Given the description of an element on the screen output the (x, y) to click on. 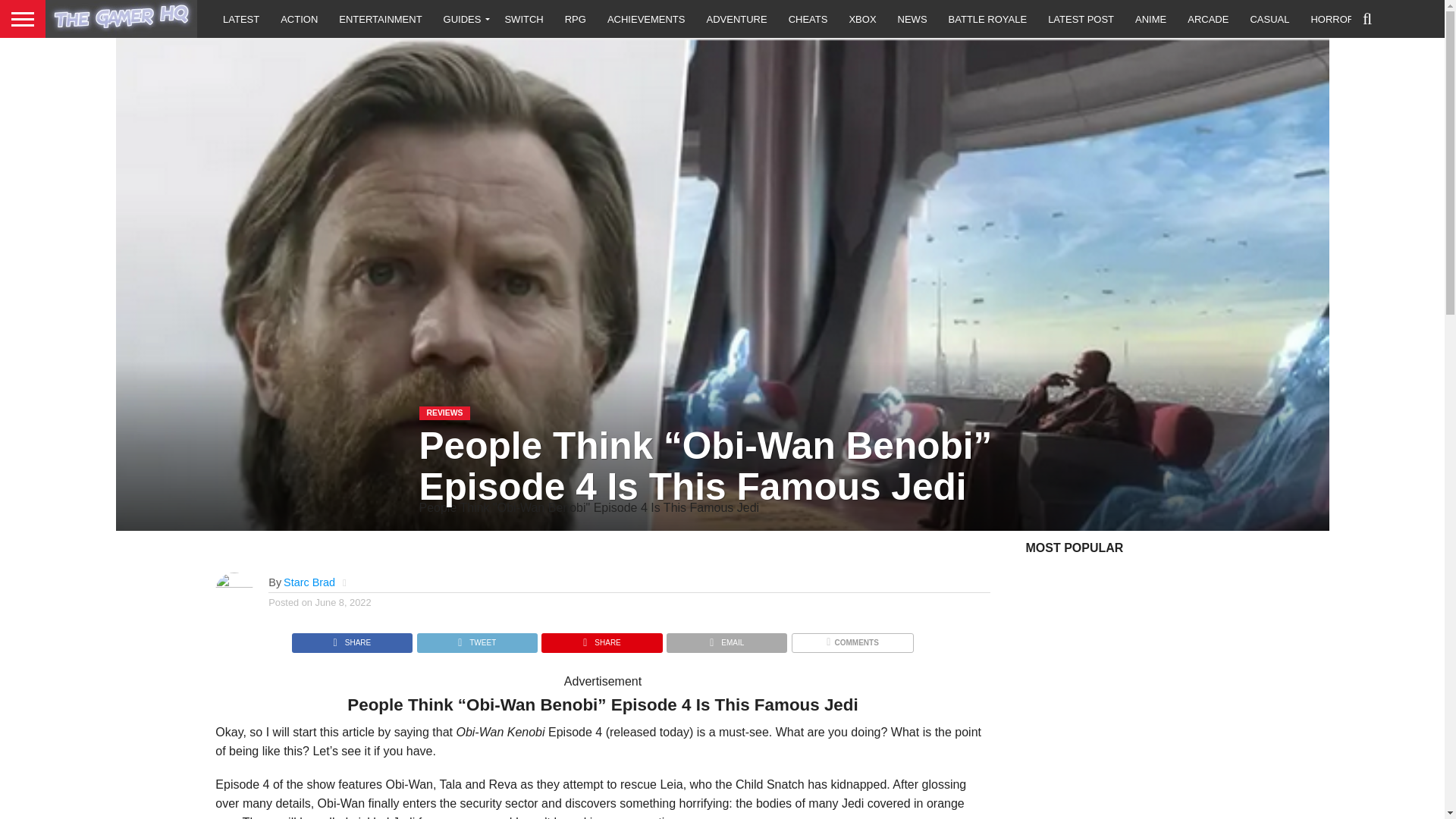
BATTLE ROYALE (987, 18)
Pin This Post (601, 638)
ACHIEVEMENTS (645, 18)
HORROR (1332, 18)
ANIME (1150, 18)
LATEST (240, 18)
Posts by Starc Brad (308, 582)
LATEST POST (1080, 18)
NEWS (911, 18)
Share on Facebook (352, 638)
